Given the description of an element on the screen output the (x, y) to click on. 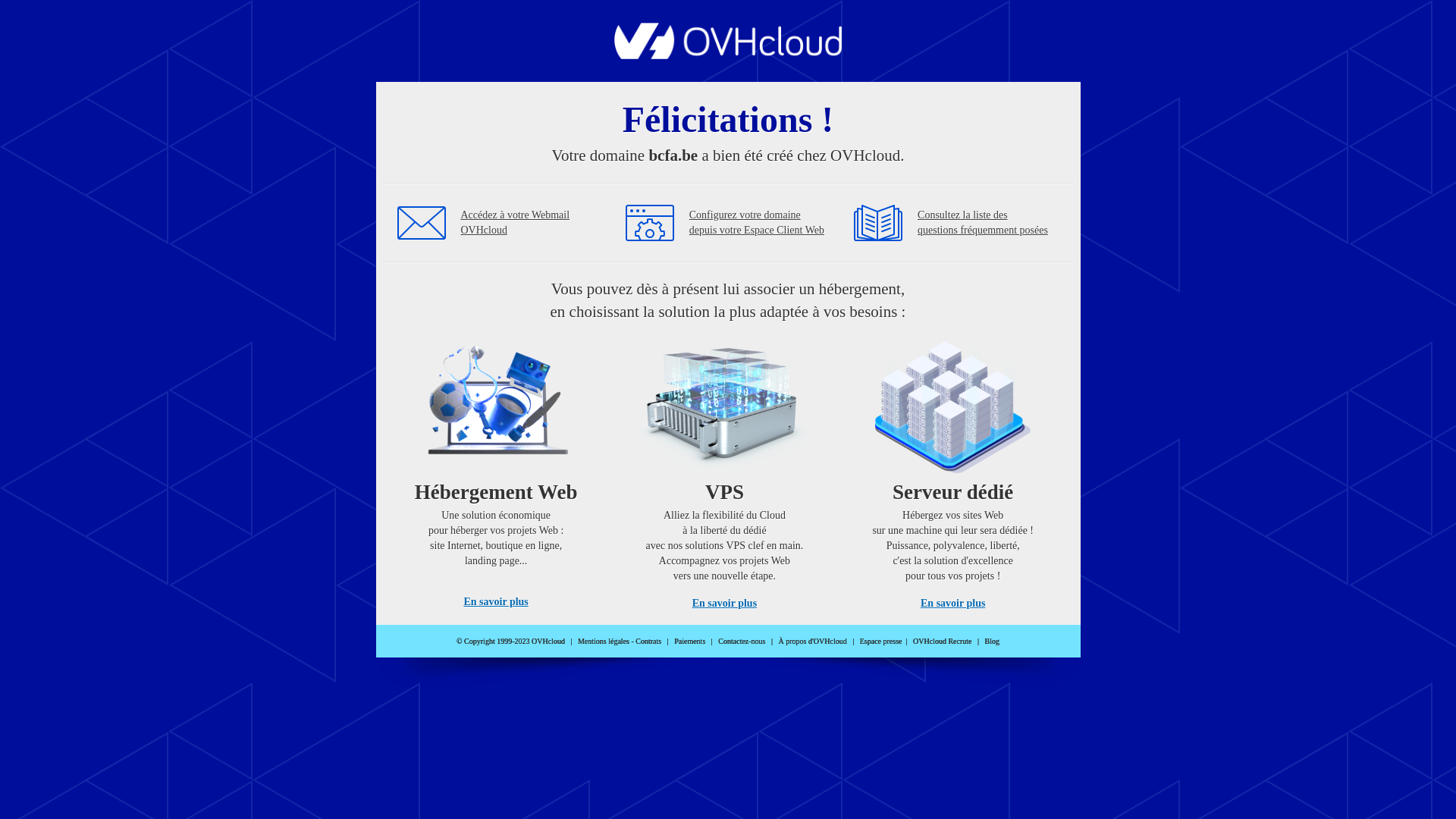
Espace presse Element type: text (880, 641)
Paiements Element type: text (689, 641)
En savoir plus Element type: text (724, 602)
Blog Element type: text (992, 641)
En savoir plus Element type: text (495, 601)
Contactez-nous Element type: text (741, 641)
OVHcloud Element type: hover (727, 54)
VPS Element type: hover (724, 469)
Configurez votre domaine
depuis votre Espace Client Web Element type: text (756, 222)
En savoir plus Element type: text (952, 602)
OVHcloud Recrute Element type: text (942, 641)
